Given the description of an element on the screen output the (x, y) to click on. 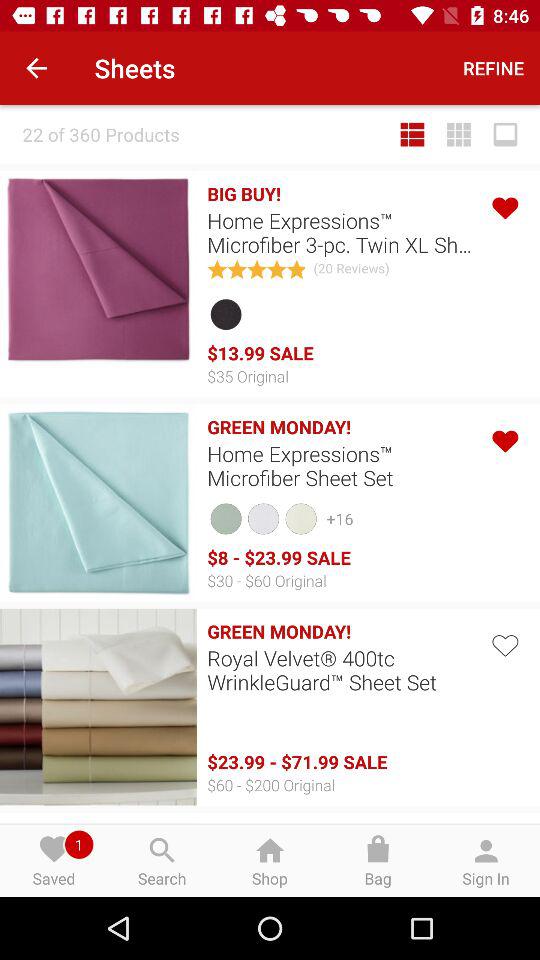
turn off the item next to sheets icon (493, 67)
